Given the description of an element on the screen output the (x, y) to click on. 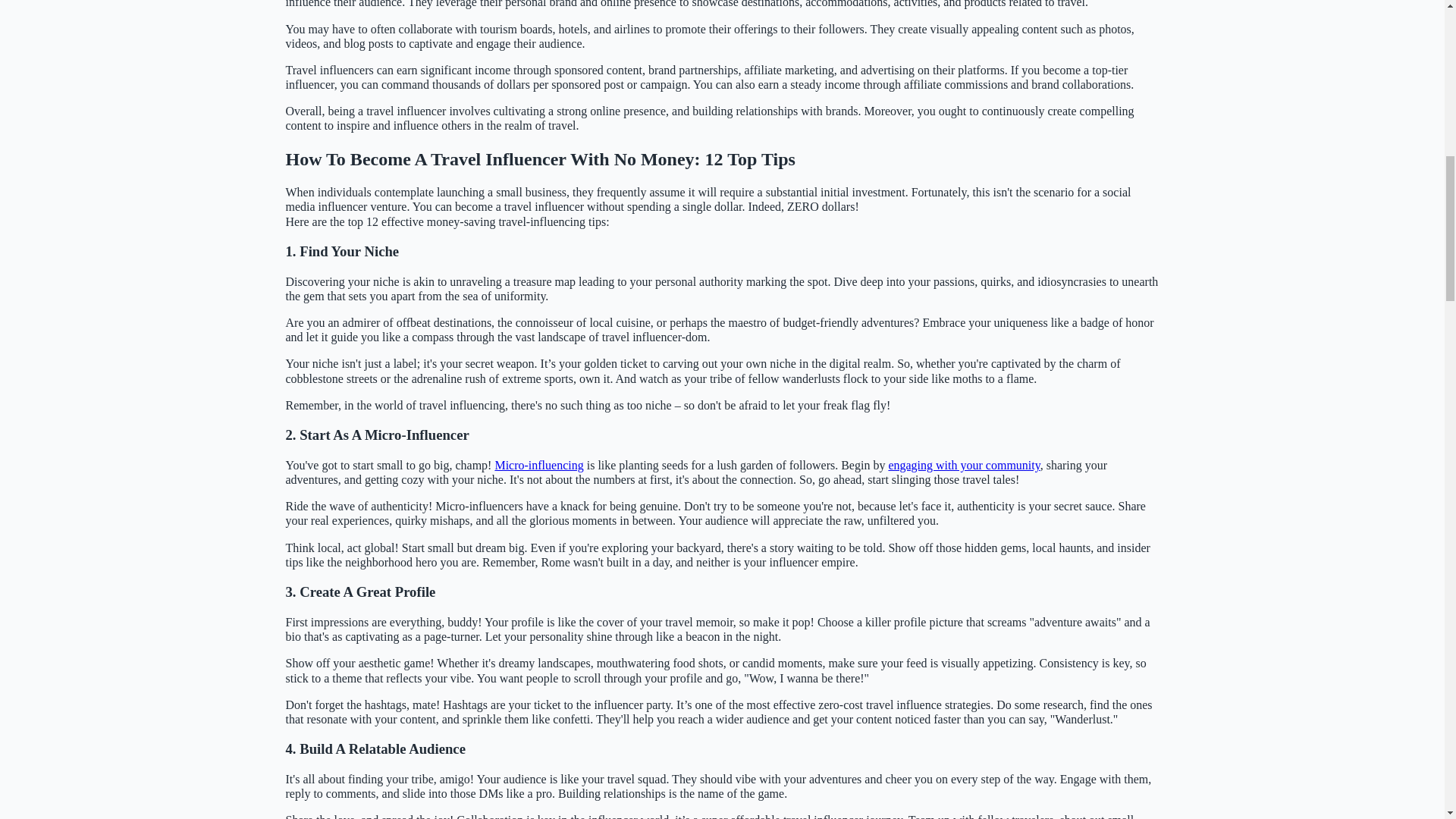
engaging with your community (963, 464)
Micro-influencing (539, 464)
